Given the description of an element on the screen output the (x, y) to click on. 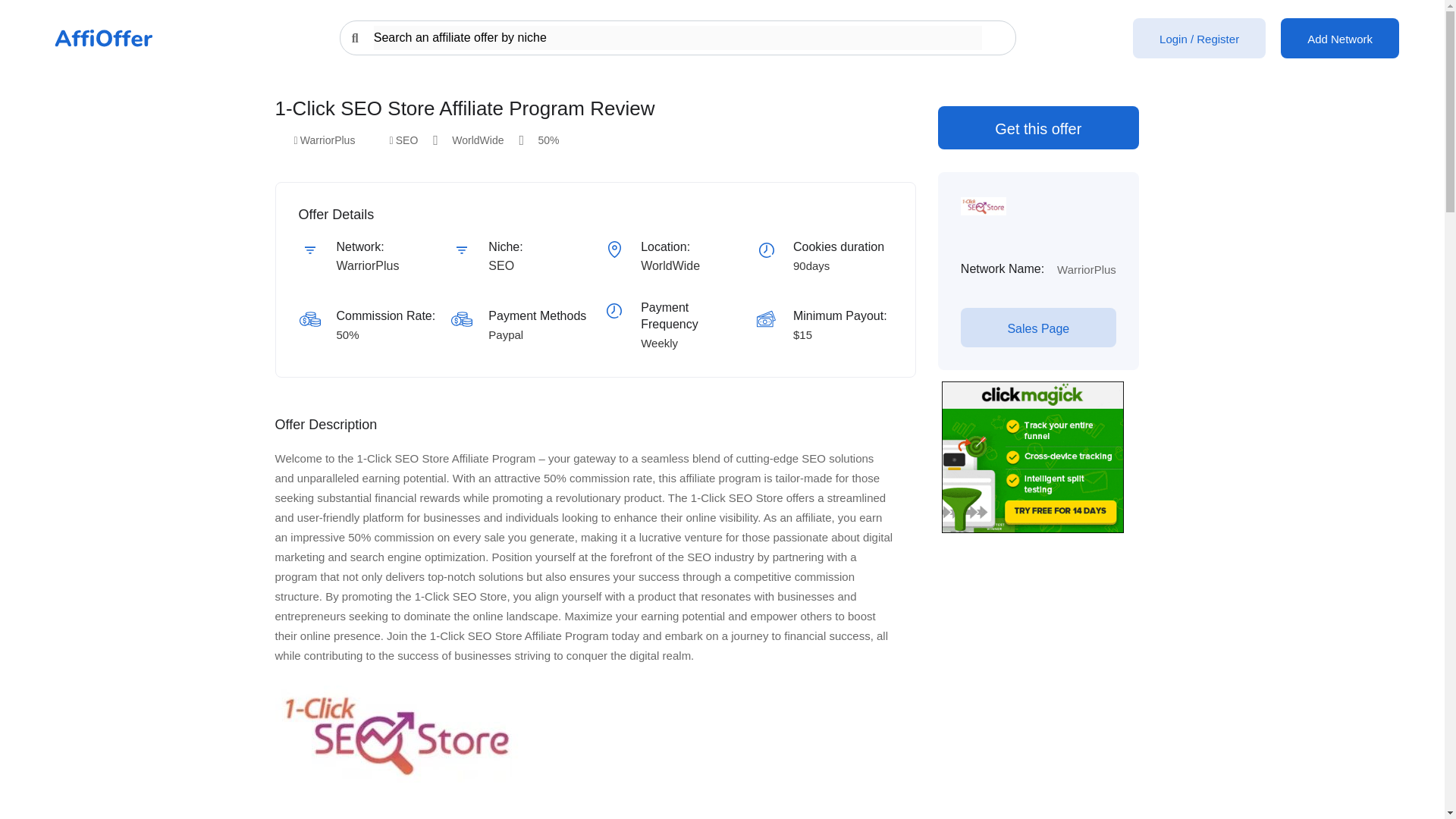
Add Network (1340, 38)
Get this offer (1037, 127)
Sales Page (1038, 327)
